Given the description of an element on the screen output the (x, y) to click on. 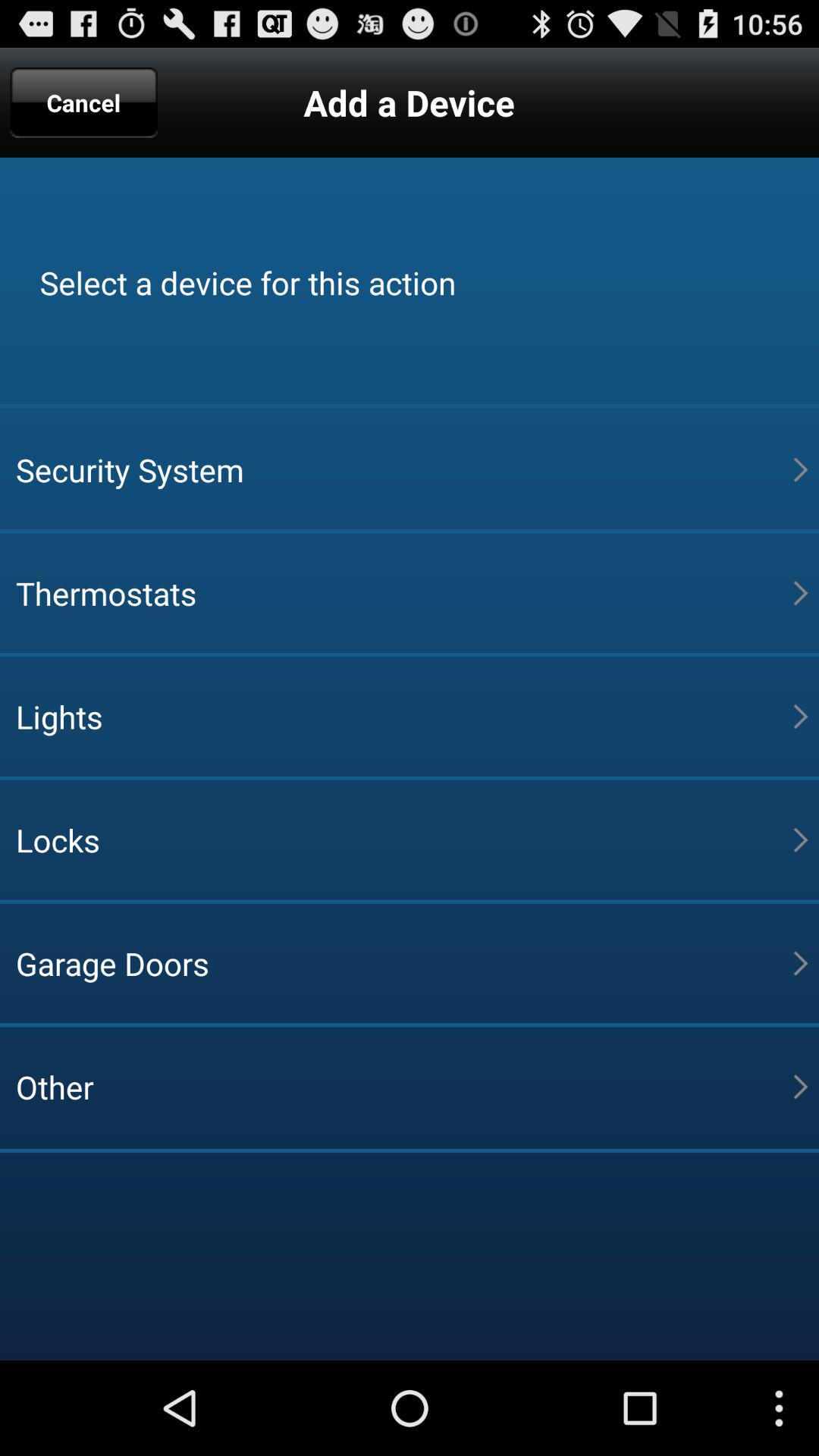
open the item above the other icon (403, 963)
